Given the description of an element on the screen output the (x, y) to click on. 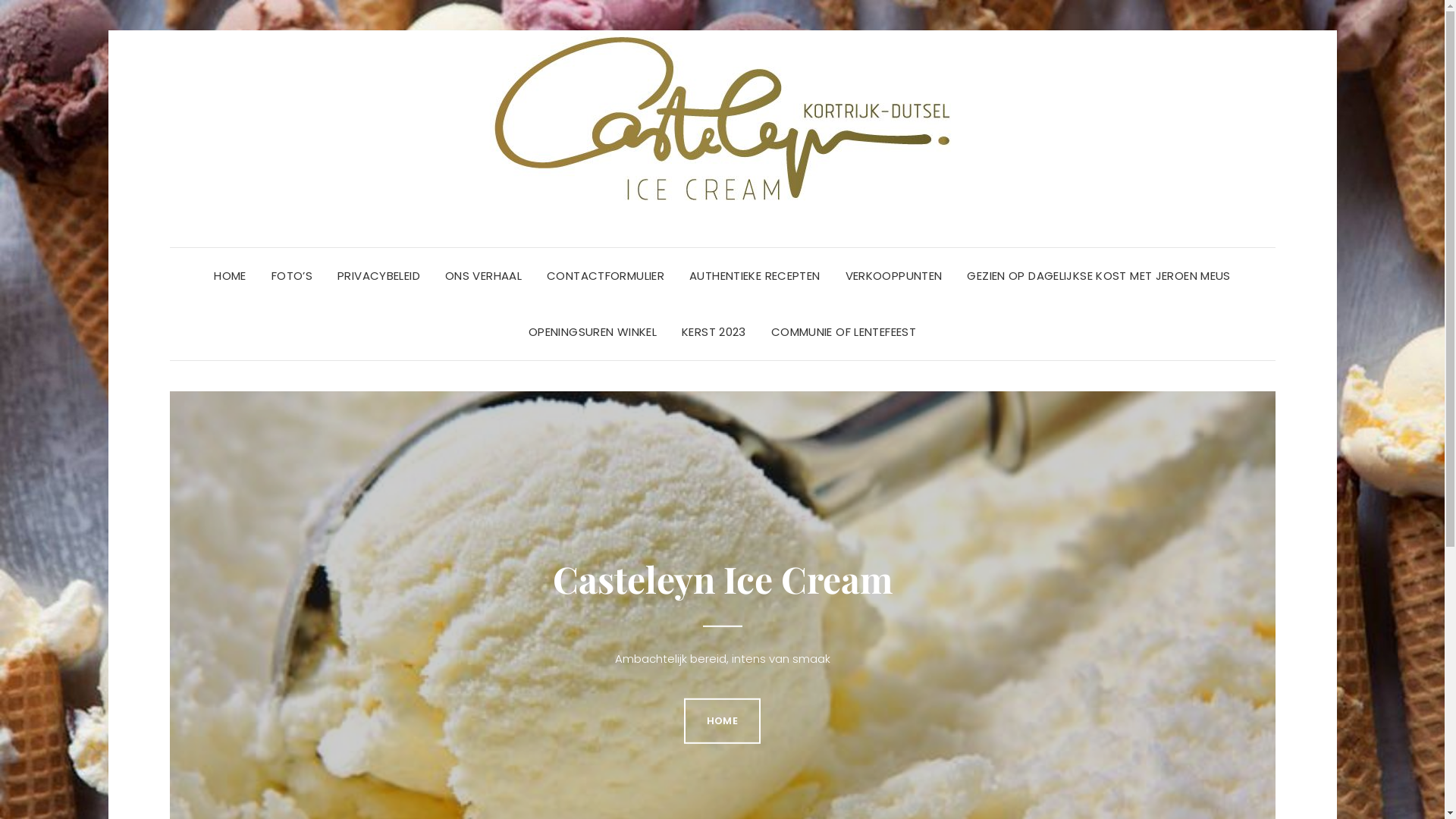
AUTHENTIEKE RECEPTEN Element type: text (754, 275)
Casteleyn Ice Cream Element type: text (721, 578)
COMMUNIE OF LENTEFEEST Element type: text (843, 332)
PRIVACYBELEID Element type: text (378, 275)
OPENINGSUREN WINKEL Element type: text (592, 332)
ONS VERHAAL Element type: text (483, 275)
VERKOOPPUNTEN Element type: text (892, 275)
HOME Element type: text (722, 720)
KERST 2023 Element type: text (713, 332)
CONTACTFORMULIER Element type: text (605, 275)
HOME Element type: text (229, 275)
GEZIEN OP DAGELIJKSE KOST MET JEROEN MEUS Element type: text (1098, 275)
